Given the description of an element on the screen output the (x, y) to click on. 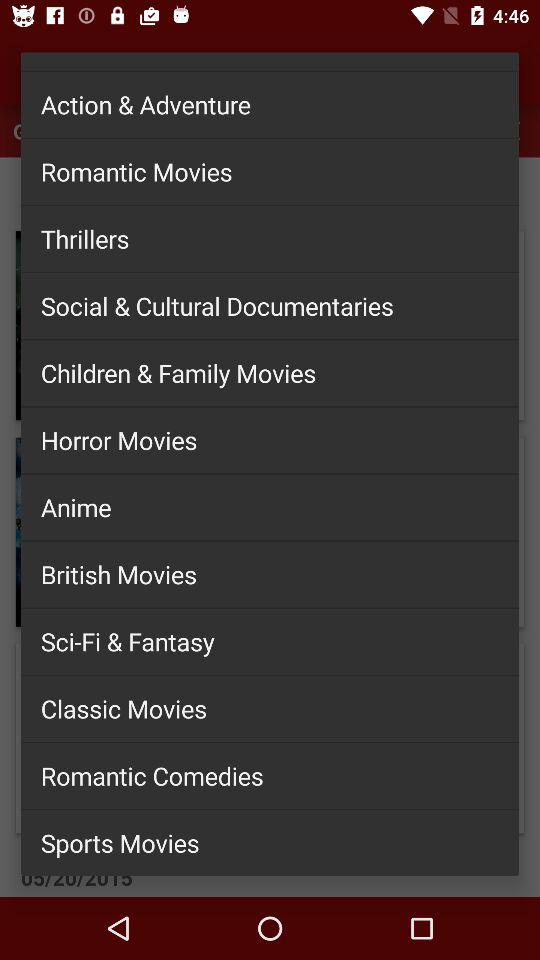
select sci-fi & fantasy icon (269, 641)
